Given the description of an element on the screen output the (x, y) to click on. 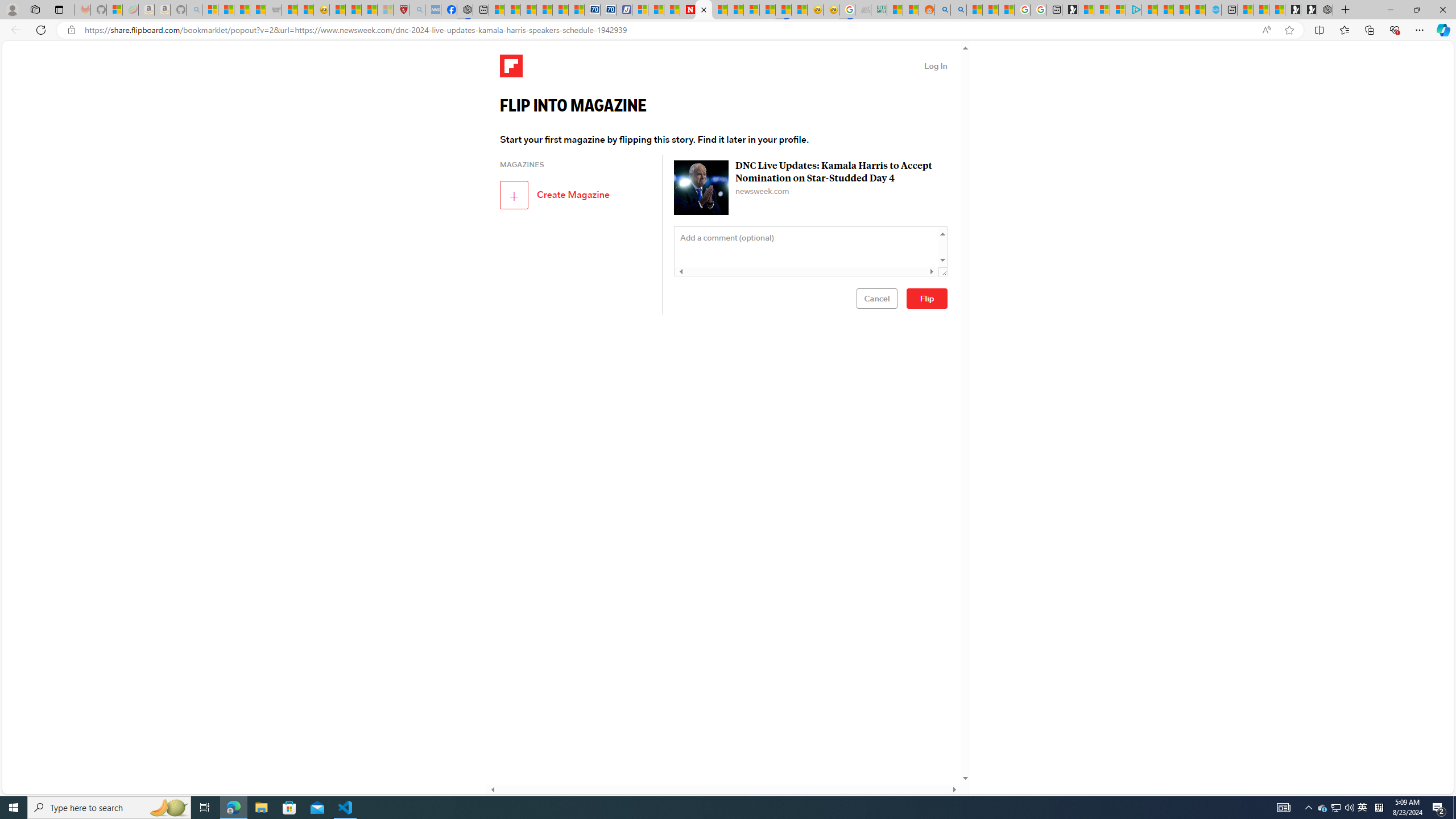
Robert H. Shmerling, MD - Harvard Health (400, 9)
To get missing image descriptions, open the context menu. (701, 187)
Add a comment (optional) (810, 251)
Combat Siege (273, 9)
